Given the description of an element on the screen output the (x, y) to click on. 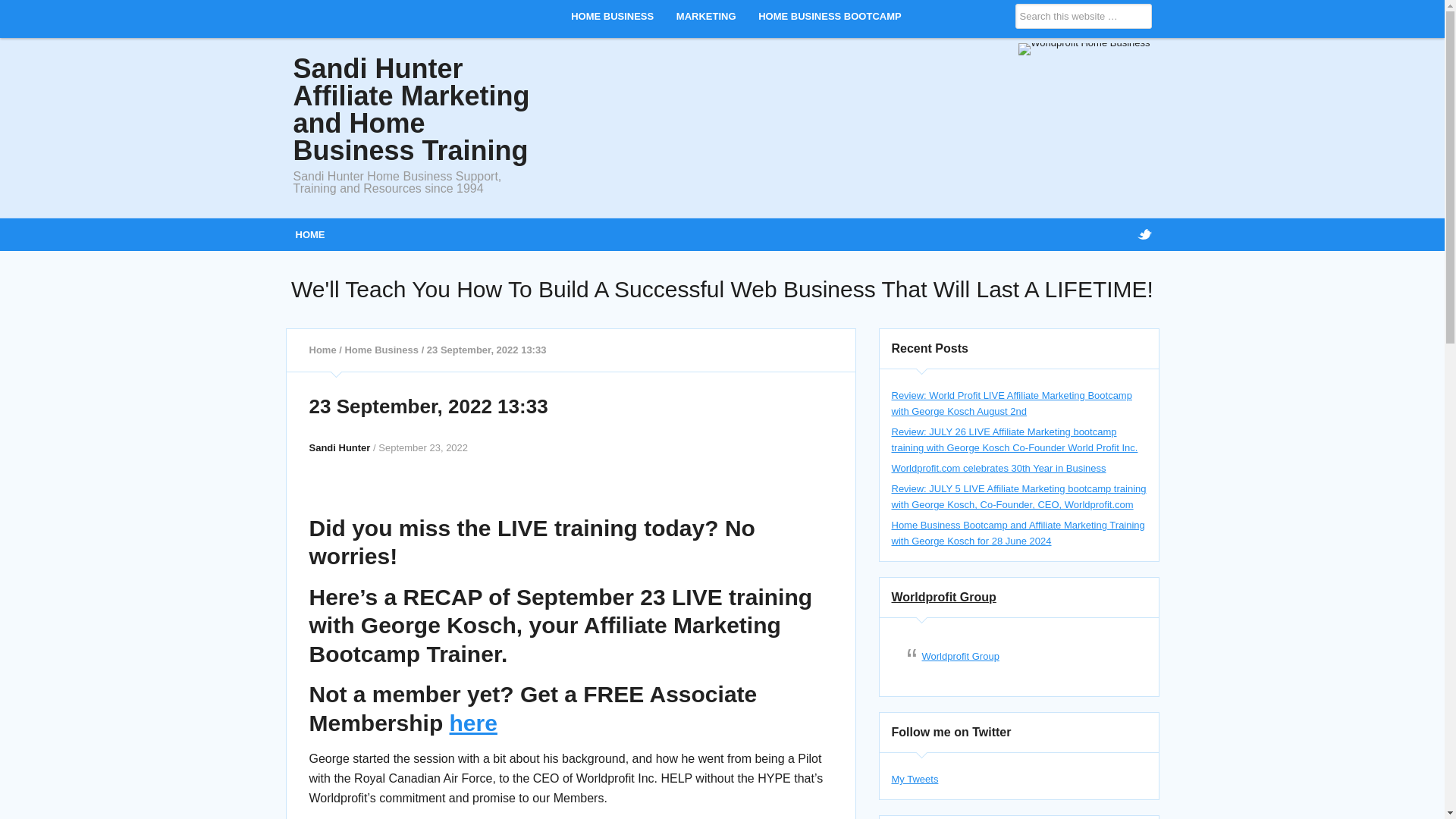
HOME BUSINESS BOOTCAMP (829, 16)
Sandi Hunter (339, 447)
FACEBOOK (1112, 233)
MARKETING (705, 16)
Worldprofit Group (943, 596)
TWITTER (1143, 233)
Sandi Hunter Affiliate Marketing and Home Business Training (410, 109)
HOME BUSINESS (611, 16)
HOME (309, 234)
Worldprofit.com celebrates 30th Year in Business (998, 468)
My Tweets (915, 778)
Home (322, 349)
